Given the description of an element on the screen output the (x, y) to click on. 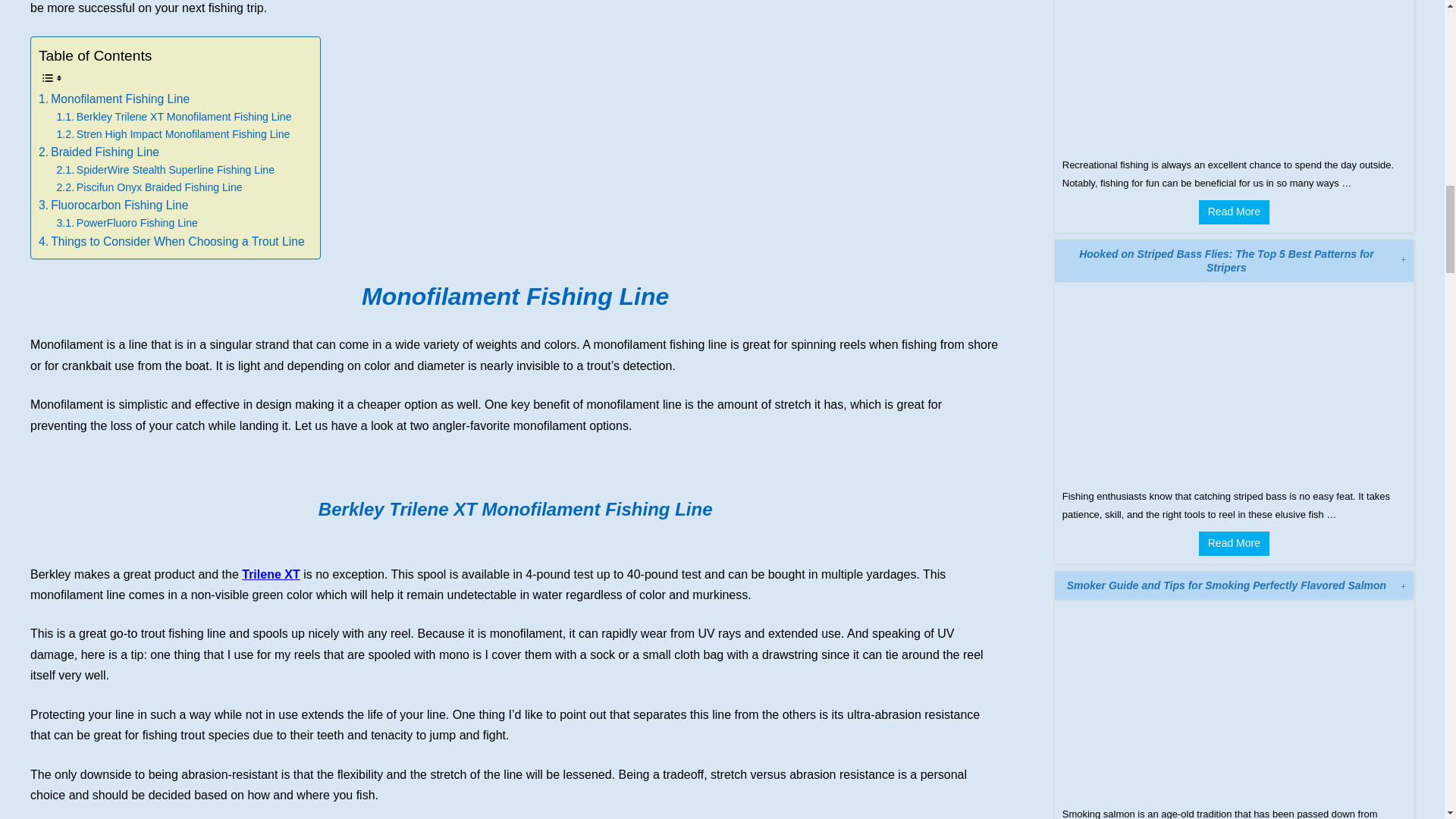
Things to Consider When Choosing a Trout Line (171, 240)
Monofilament Fishing Line (114, 98)
SpiderWire Stealth Superline Fishing Line (165, 170)
PowerFluoro Fishing Line (126, 222)
Stren High Impact Monofilament Fishing Line (172, 134)
Piscifun Onyx Braided Fishing Line (148, 187)
Berkley Trilene XT Monofilament Fishing Line (173, 117)
Fluorocarbon Fishing Line (113, 204)
Braided Fishing Line (98, 151)
